Given the description of an element on the screen output the (x, y) to click on. 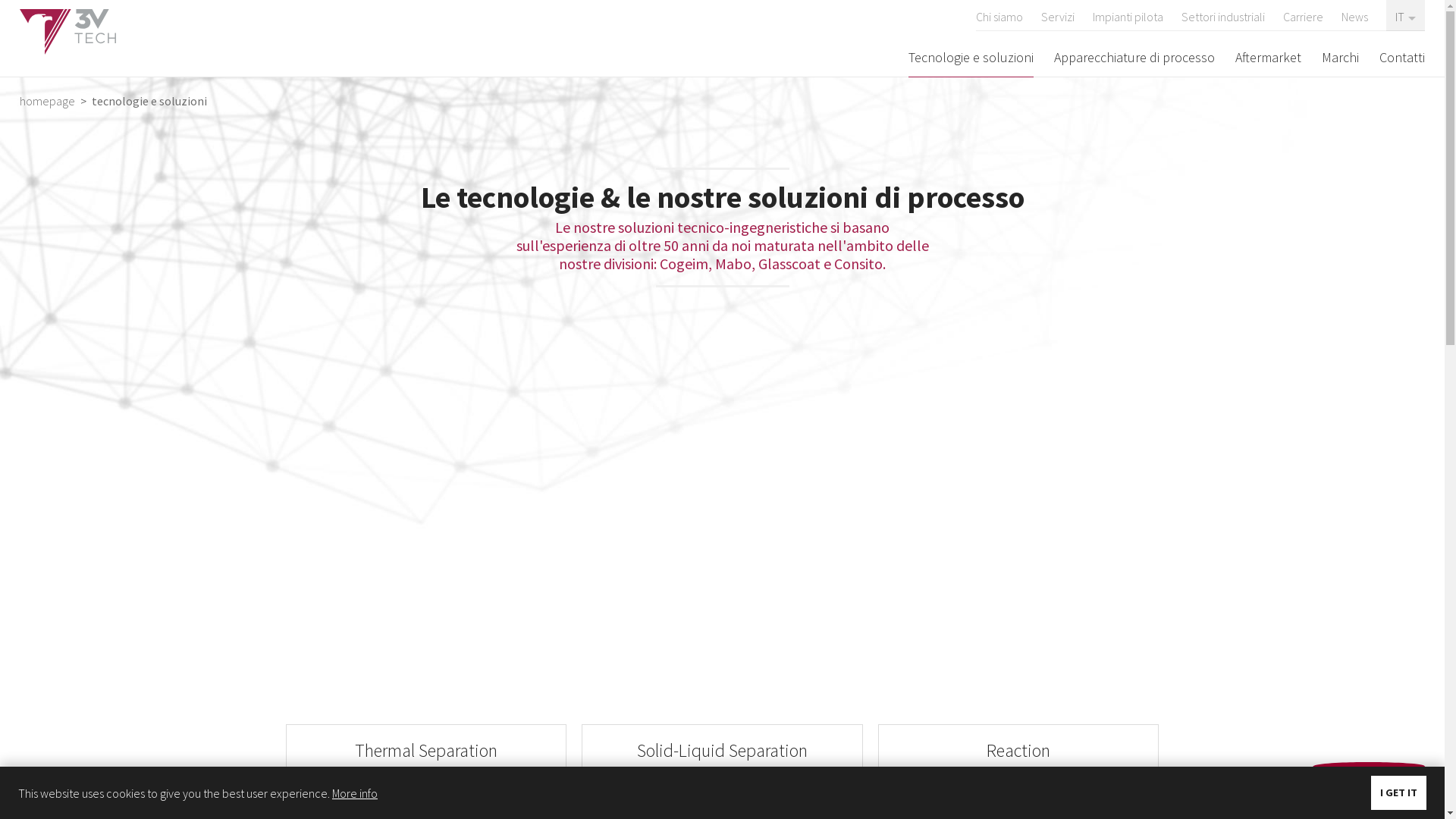
Impianti pilota Element type: text (1127, 15)
3V Tech Element type: hover (67, 31)
News Element type: text (1354, 15)
Settori industriali Element type: text (1222, 15)
I GET IT Element type: text (1398, 792)
Carriere Element type: text (1303, 15)
Contact us! Element type: text (1368, 784)
Tecnologie e soluzioni Element type: text (970, 56)
Contatti Element type: text (1401, 56)
Neutralization Element type: text (1018, 792)
Marchi Element type: text (1339, 56)
Filtrazione discontinua Element type: text (722, 792)
Aftermarket Element type: text (1268, 56)
Evaporazione Element type: text (426, 792)
Servizi Element type: text (1057, 15)
tecnologie e soluzioni Element type: text (147, 100)
homepage Element type: text (48, 100)
Chi siamo Element type: text (998, 15)
More info Element type: text (354, 792)
Apparecchiature di processo Element type: text (1134, 56)
